Given the description of an element on the screen output the (x, y) to click on. 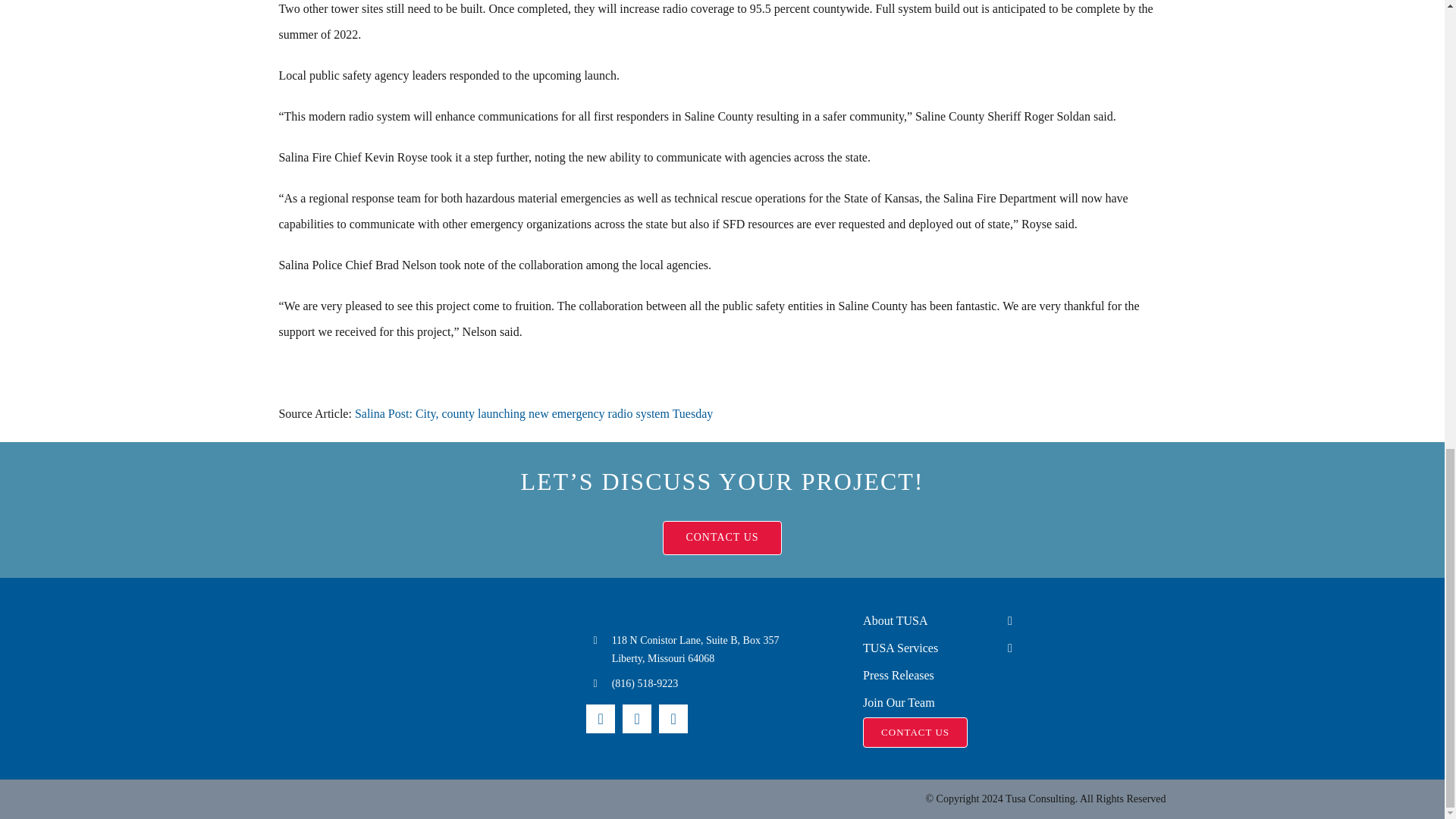
YouTube (673, 718)
CONTACT US (721, 537)
LinkedIn (636, 718)
About TUSA (932, 620)
TUSA Services (932, 647)
TUSA-darkbg-whitebars (414, 678)
Facebook (600, 718)
